Given the description of an element on the screen output the (x, y) to click on. 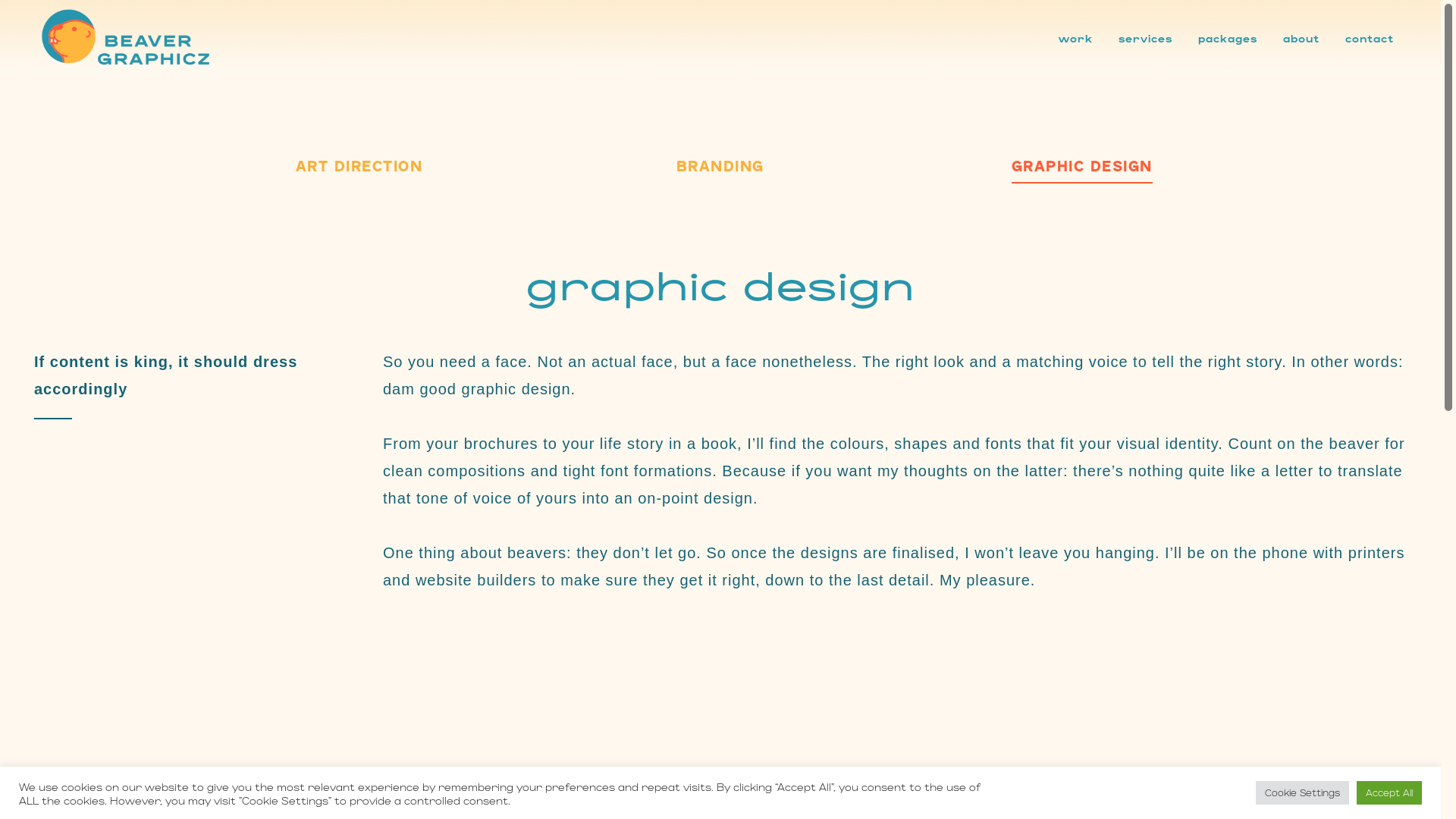
packages Element type: text (1227, 37)
about Element type: text (1301, 37)
ART DIRECTION Element type: text (359, 169)
contact Element type: text (1369, 37)
GRAPHIC DESIGN Element type: text (1081, 169)
Cookie Settings Element type: text (1302, 792)
BRANDING Element type: text (720, 169)
Accept All Element type: text (1388, 792)
services Element type: text (1145, 37)
work Element type: text (1075, 37)
